Given the description of an element on the screen output the (x, y) to click on. 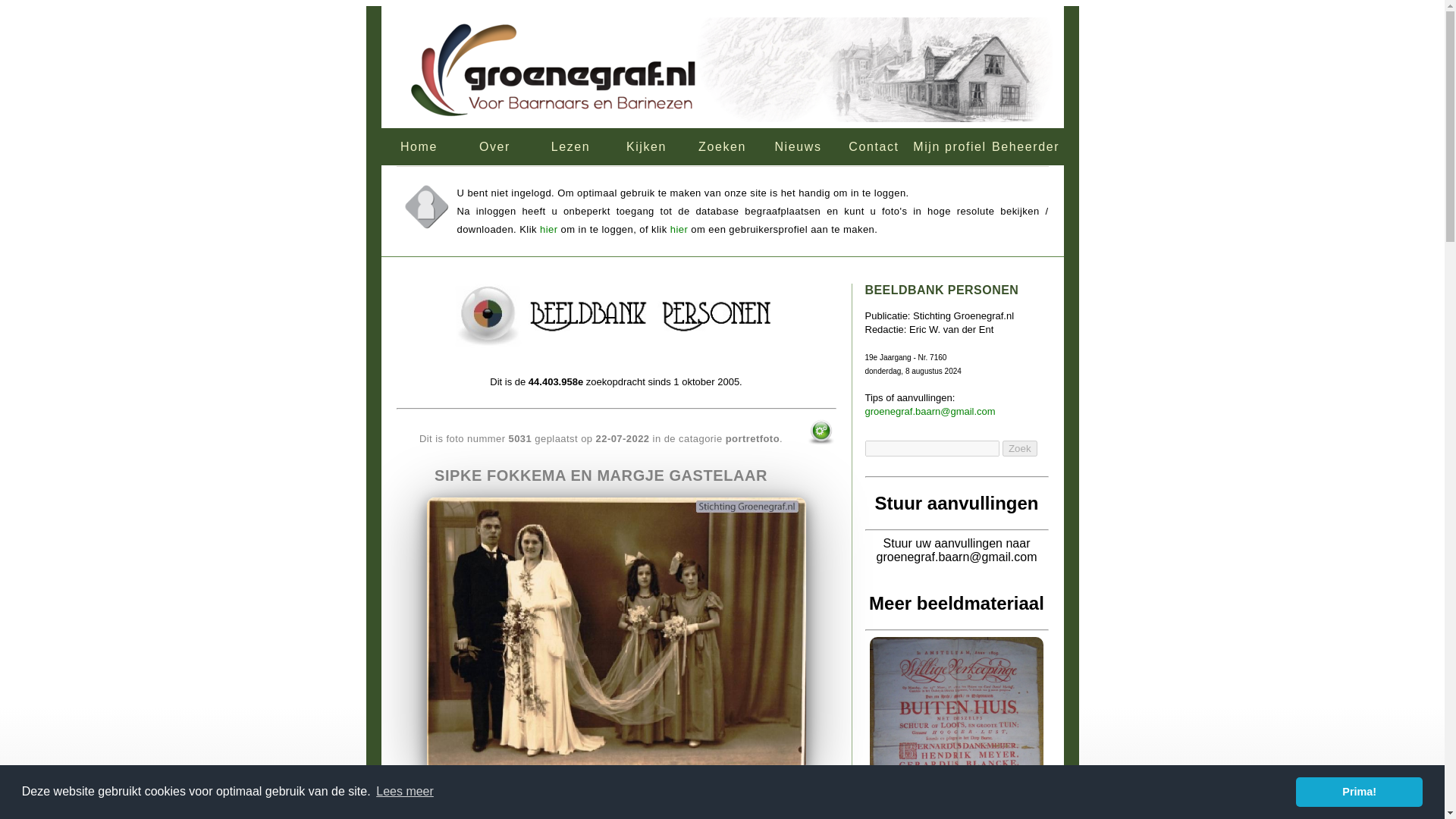
Nieuws (797, 146)
Prima! (1358, 791)
Beheerder (1024, 146)
Lees meer (404, 791)
Over (494, 146)
Lezen (570, 146)
Zoek (1019, 448)
klik hier om uw profielfoto te wijzigen (425, 207)
Zoeken (722, 146)
Kijken (646, 146)
